Given the description of an element on the screen output the (x, y) to click on. 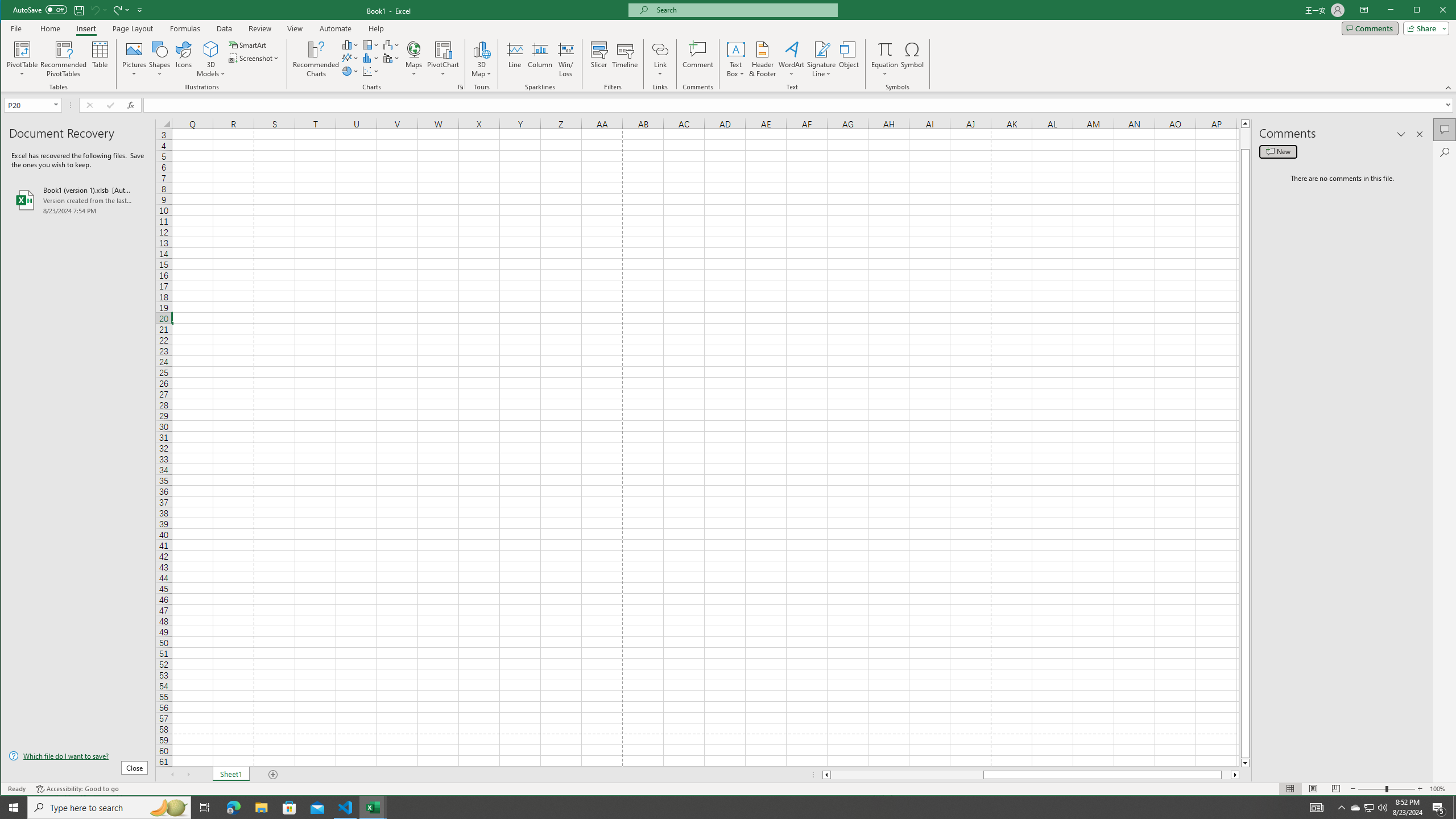
Insert Pie or Doughnut Chart (350, 70)
Visual Studio Code - 1 running window (345, 807)
3D Map (481, 48)
Win/Loss (565, 59)
Page up (1245, 138)
Search (1444, 151)
Maximize (1432, 11)
Action Center, 5 new notifications (1439, 807)
PivotTable (22, 59)
